Given the description of an element on the screen output the (x, y) to click on. 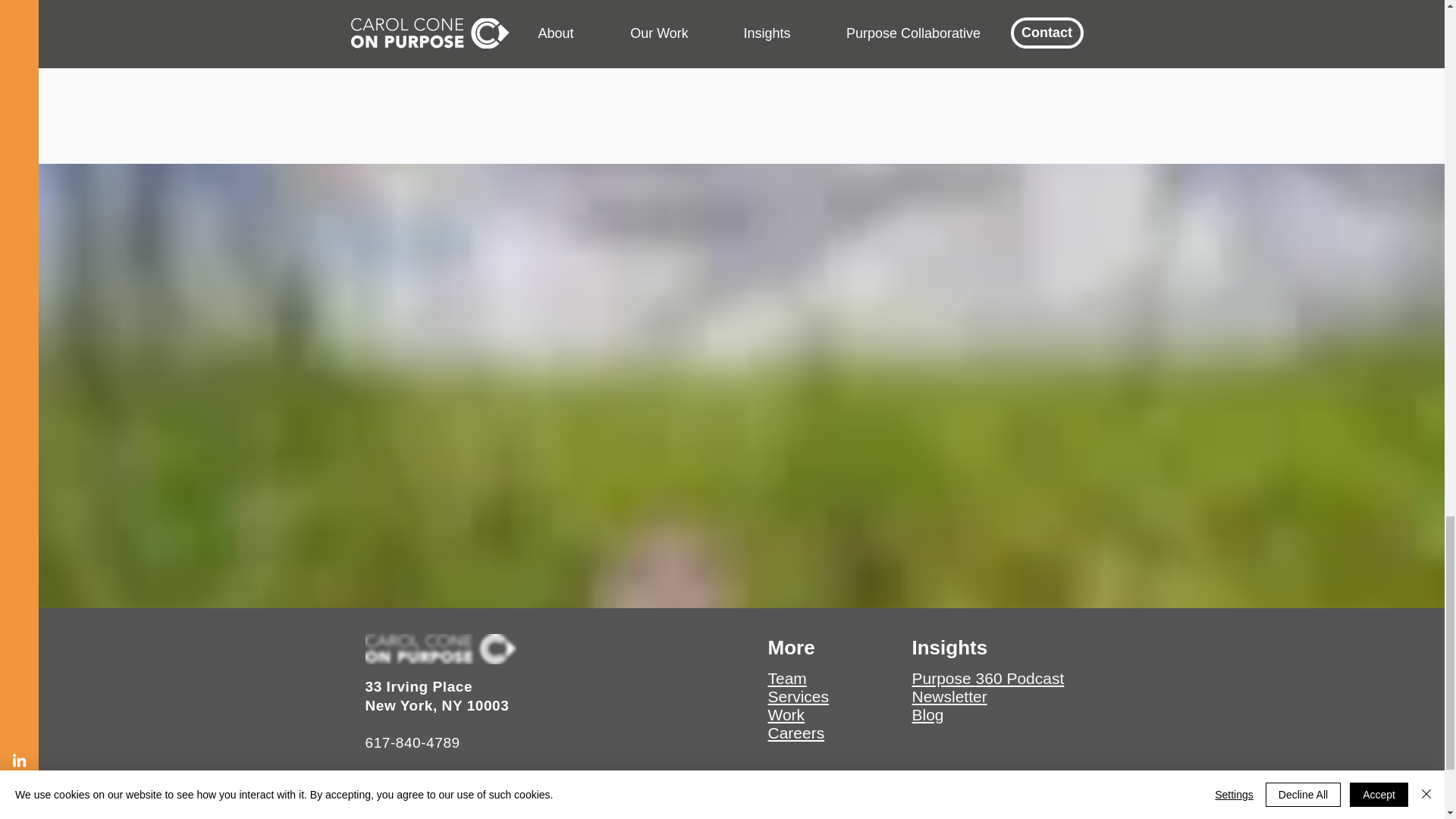
Careers (795, 732)
Newsletter (949, 696)
Work (786, 714)
Team (786, 678)
Services (797, 696)
Purpose 360 Podcast (987, 678)
Blog (927, 714)
